Given the description of an element on the screen output the (x, y) to click on. 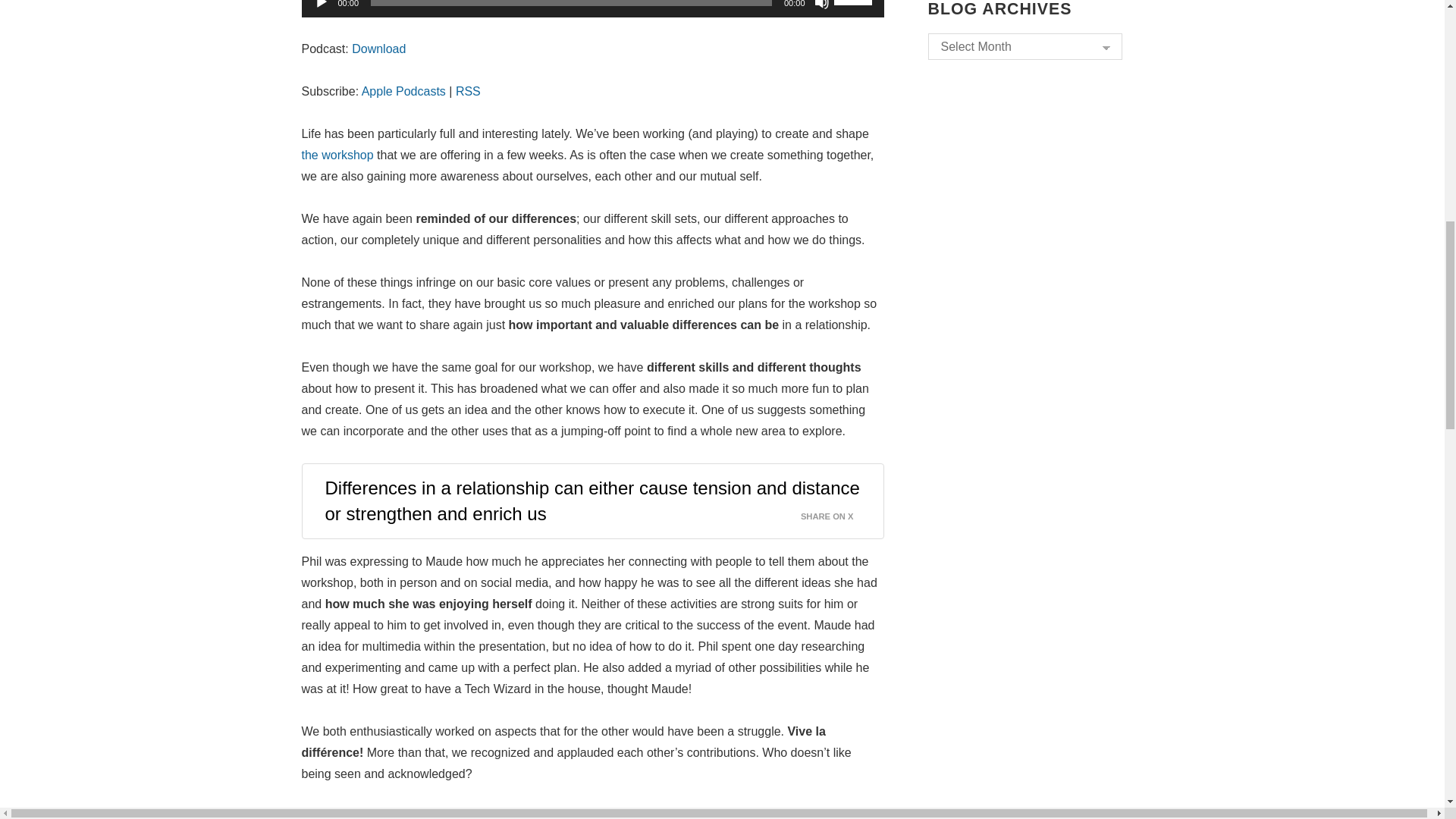
Subscribe via RSS (467, 91)
SHARE ON X (836, 512)
Apple Podcasts (403, 91)
the workshop (337, 154)
Download (379, 48)
Download (379, 48)
Mute (821, 4)
RSS (467, 91)
Subscribe on Apple Podcasts (403, 91)
Play (321, 4)
